Given the description of an element on the screen output the (x, y) to click on. 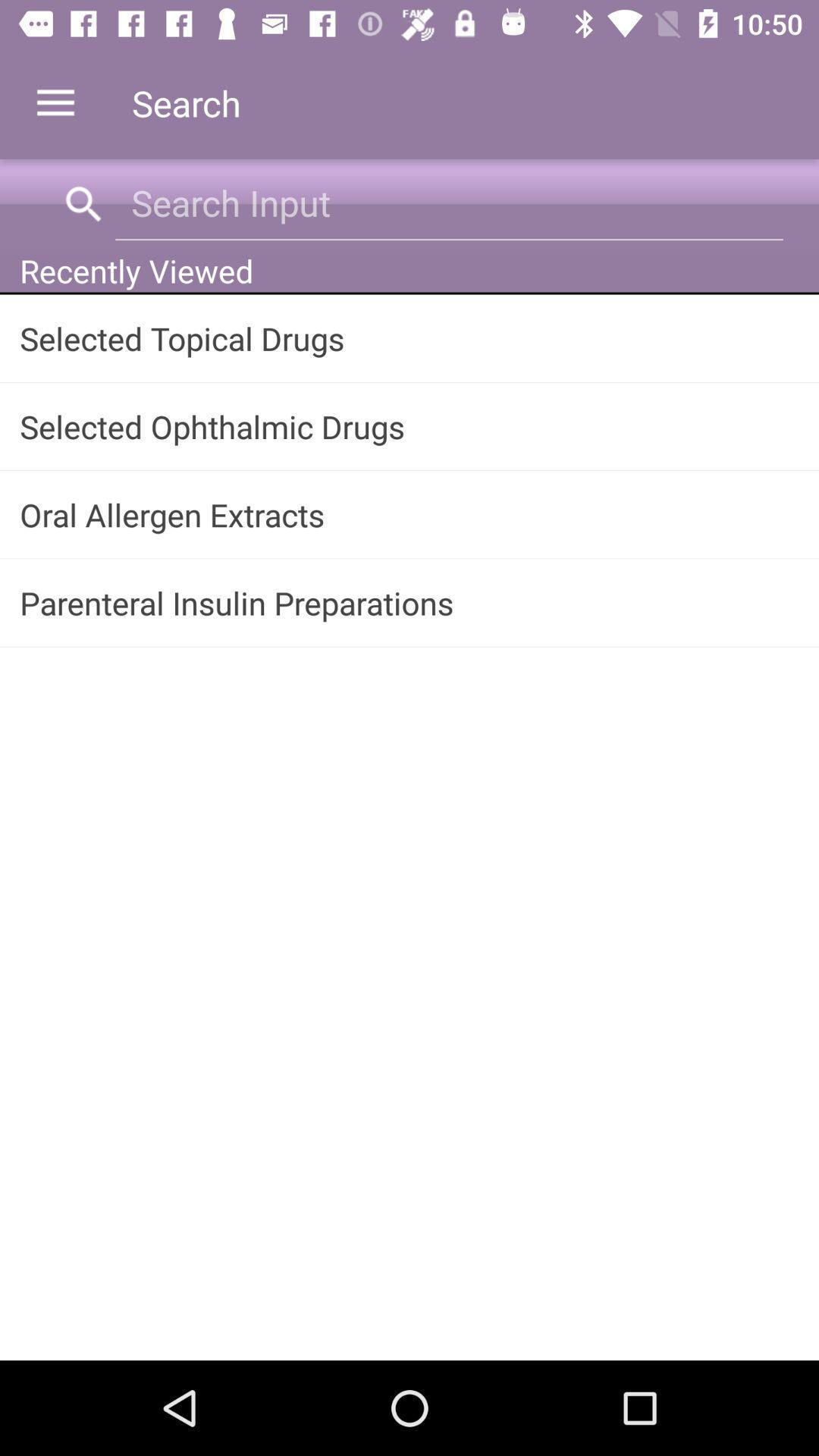
scroll until the oral allergen extracts icon (409, 514)
